Given the description of an element on the screen output the (x, y) to click on. 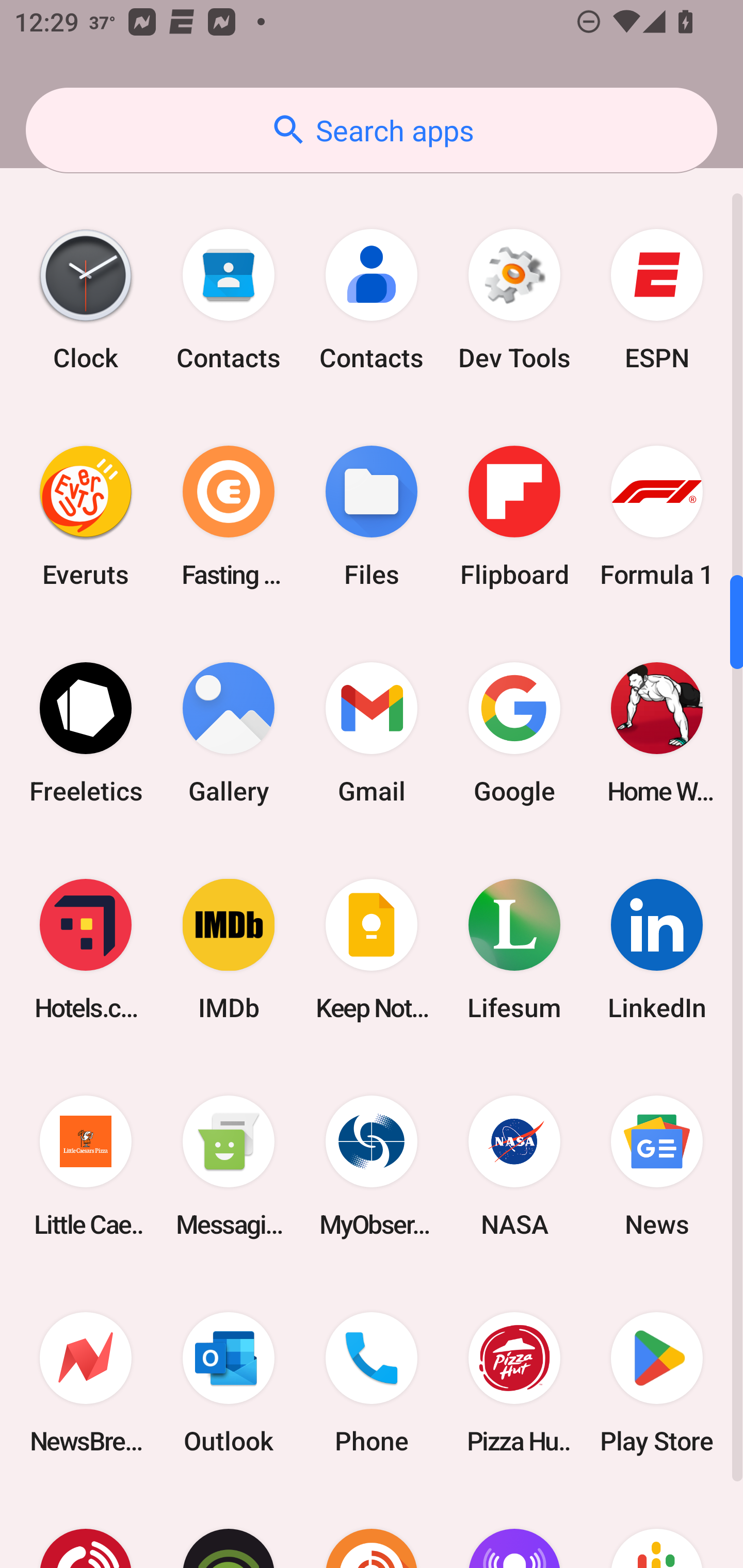
  Search apps (371, 130)
Clock (85, 299)
Contacts (228, 299)
Contacts (371, 299)
Dev Tools (514, 299)
ESPN (656, 299)
Everuts (85, 515)
Fasting Coach (228, 515)
Files (371, 515)
Flipboard (514, 515)
Formula 1 (656, 515)
Freeletics (85, 733)
Gallery (228, 733)
Gmail (371, 733)
Google (514, 733)
Home Workout (656, 733)
Hotels.com (85, 950)
IMDb (228, 950)
Keep Notes (371, 950)
Lifesum (514, 950)
LinkedIn (656, 950)
Little Caesars Pizza (85, 1166)
Messaging (228, 1166)
MyObservatory (371, 1166)
NASA (514, 1166)
News (656, 1166)
NewsBreak (85, 1382)
Outlook (228, 1382)
Phone (371, 1382)
Pizza Hut HK & Macau (514, 1382)
Play Store (656, 1382)
